Given the description of an element on the screen output the (x, y) to click on. 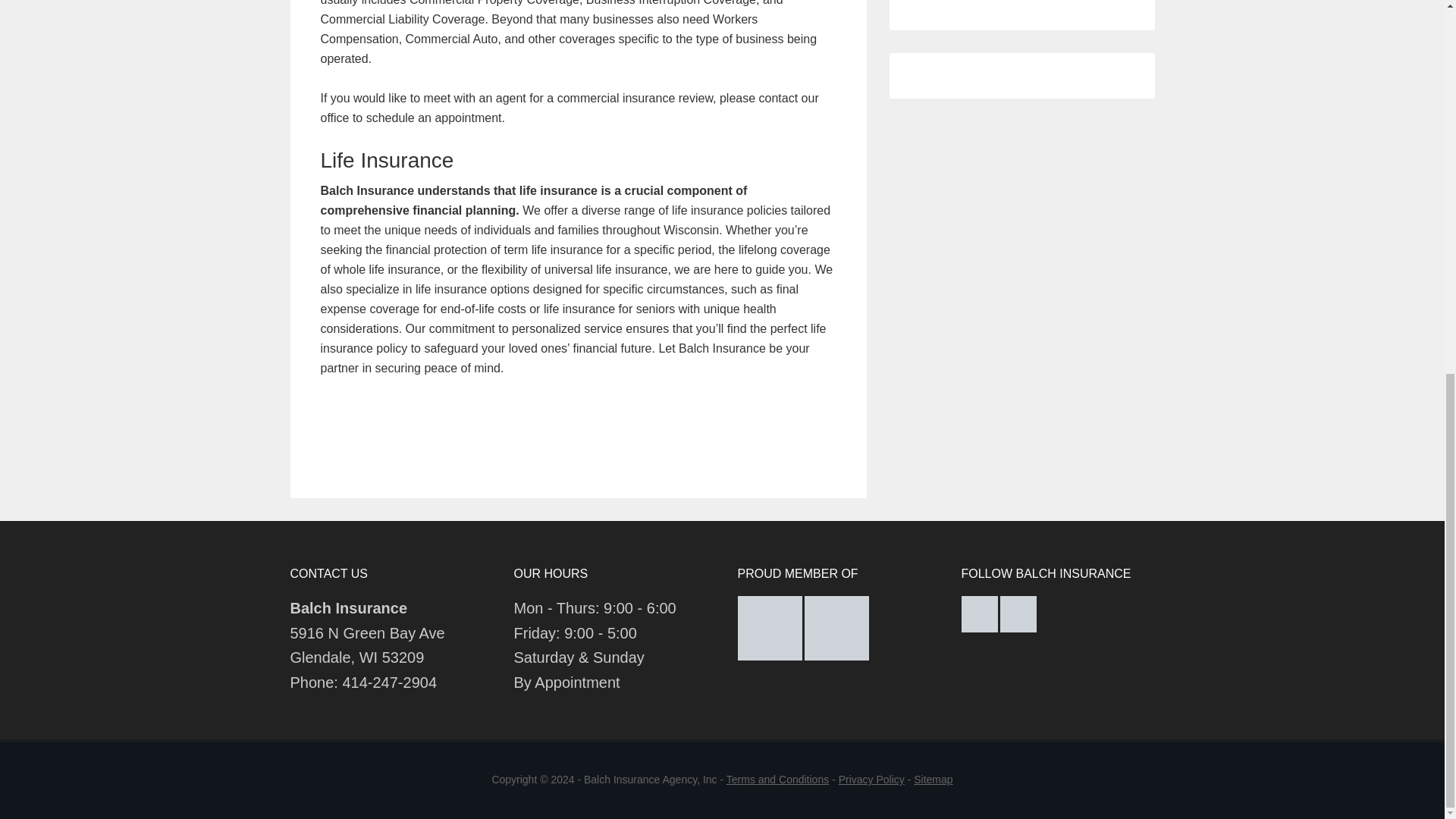
414-247-2904 (389, 682)
Terms and Conditions (777, 779)
Sitemap (933, 779)
Privacy Policy (871, 779)
